Given the description of an element on the screen output the (x, y) to click on. 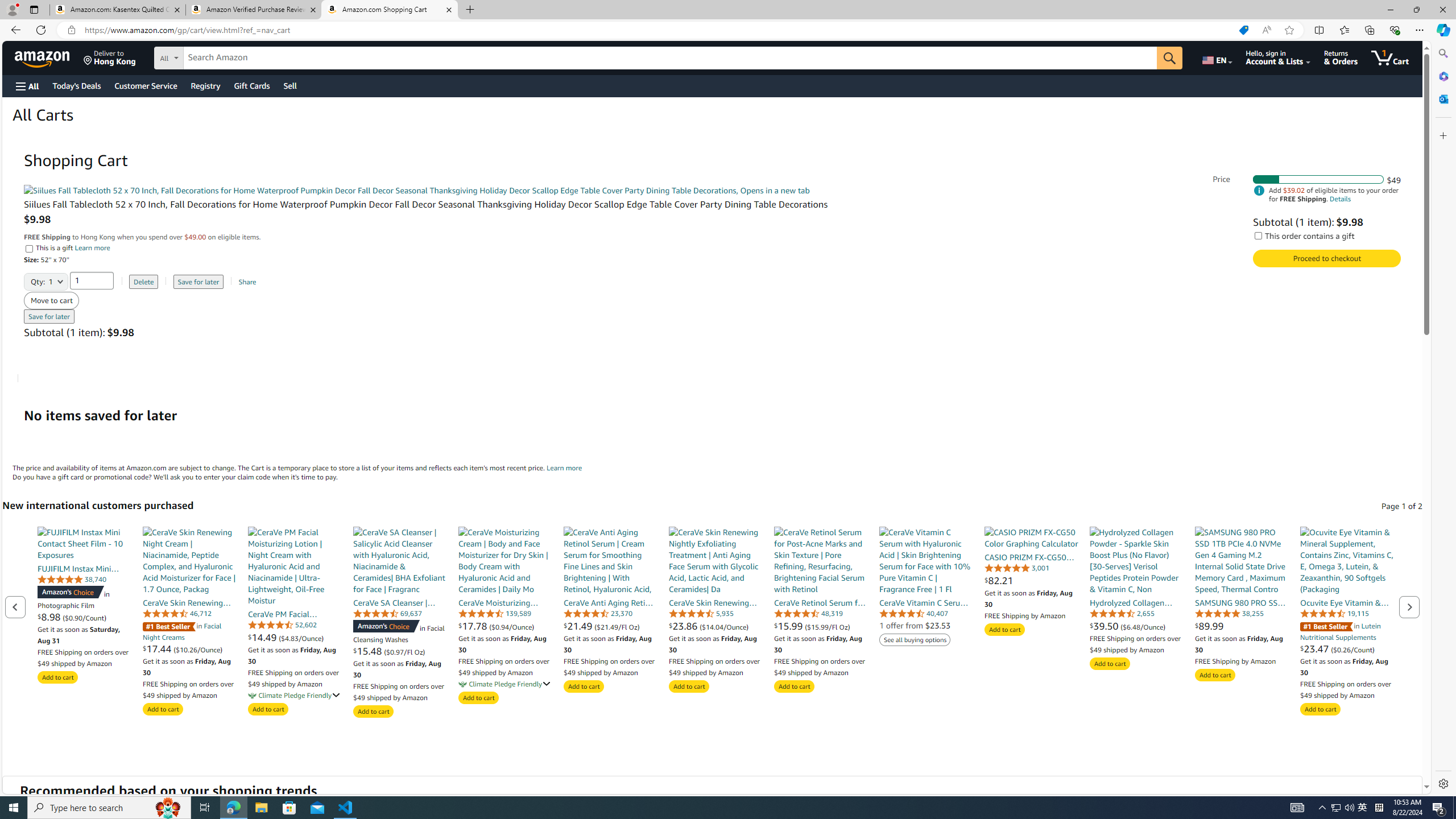
($6.48/Ounce) (1143, 626)
$15.99  (789, 625)
Sell (290, 85)
Amazon Verified Purchase Reviews - Amazon Customer Service (253, 9)
$17.44  (158, 648)
Deliver to Hong Kong (109, 57)
